Given the description of an element on the screen output the (x, y) to click on. 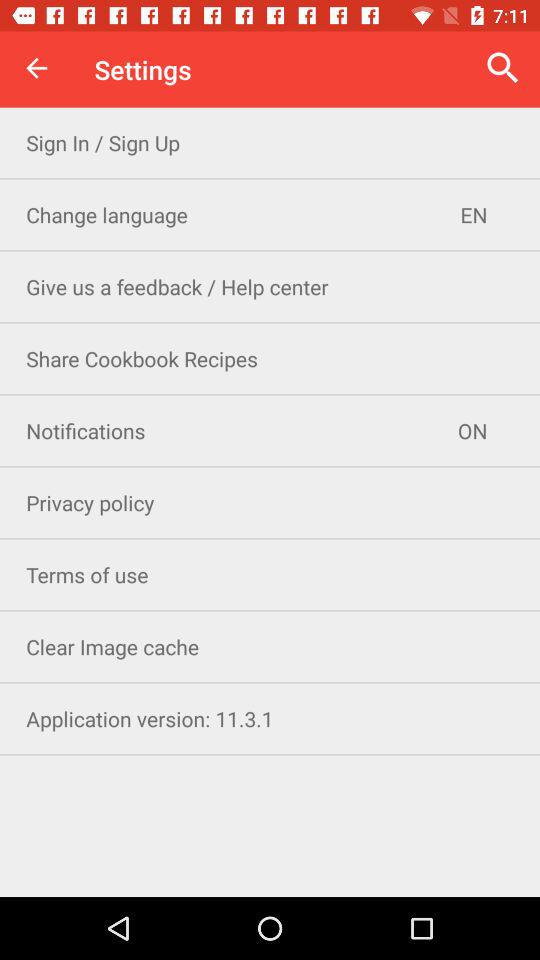
flip until give us a item (270, 286)
